Given the description of an element on the screen output the (x, y) to click on. 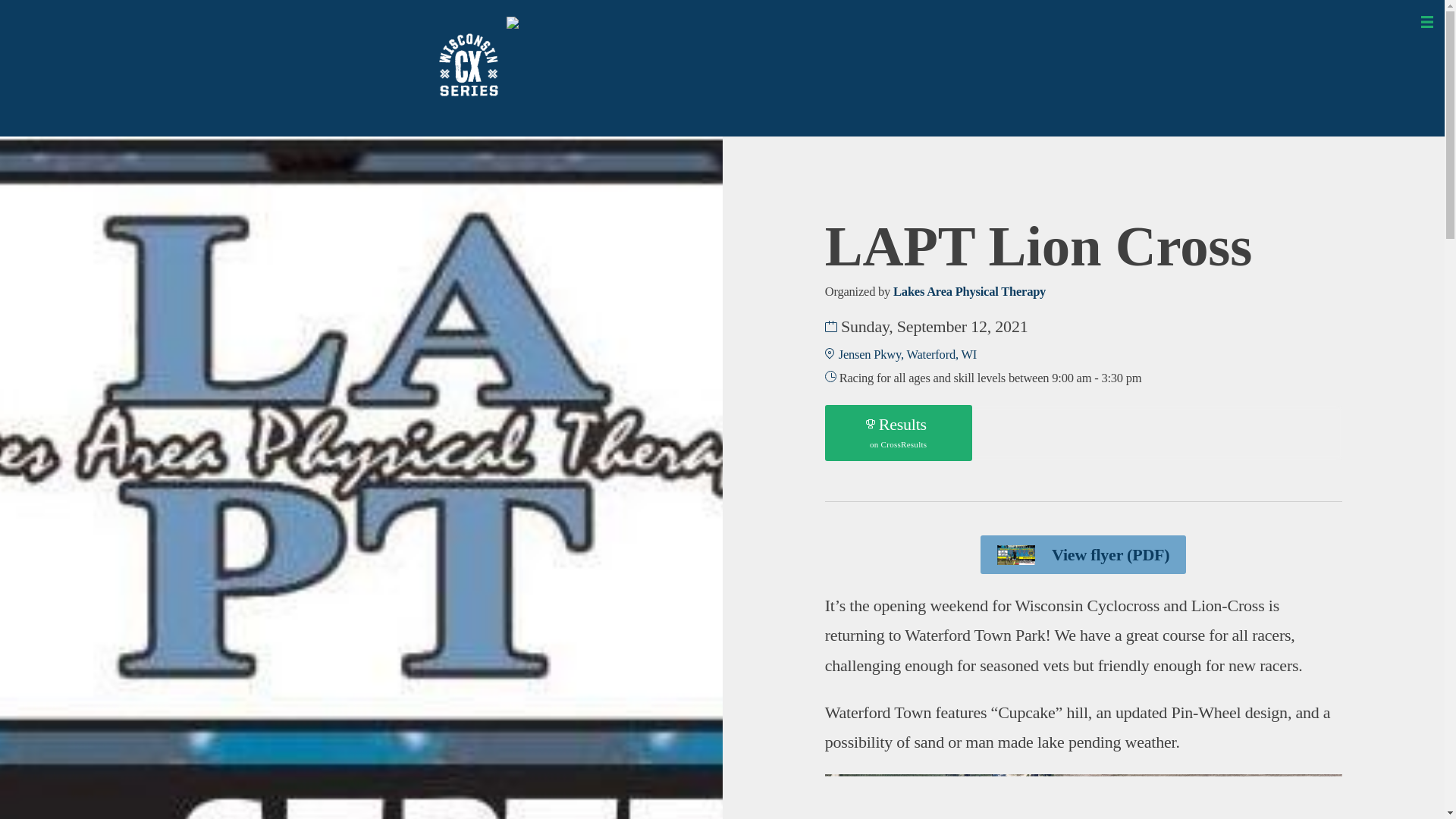
Wisconsin CX Series (502, 150)
Jensen Pkwy, Waterford, WI (907, 354)
Visit Lakes Area Physical Therapy (969, 291)
Lakes Area Physical Therapy (969, 291)
View flyer (1082, 554)
